Given the description of an element on the screen output the (x, y) to click on. 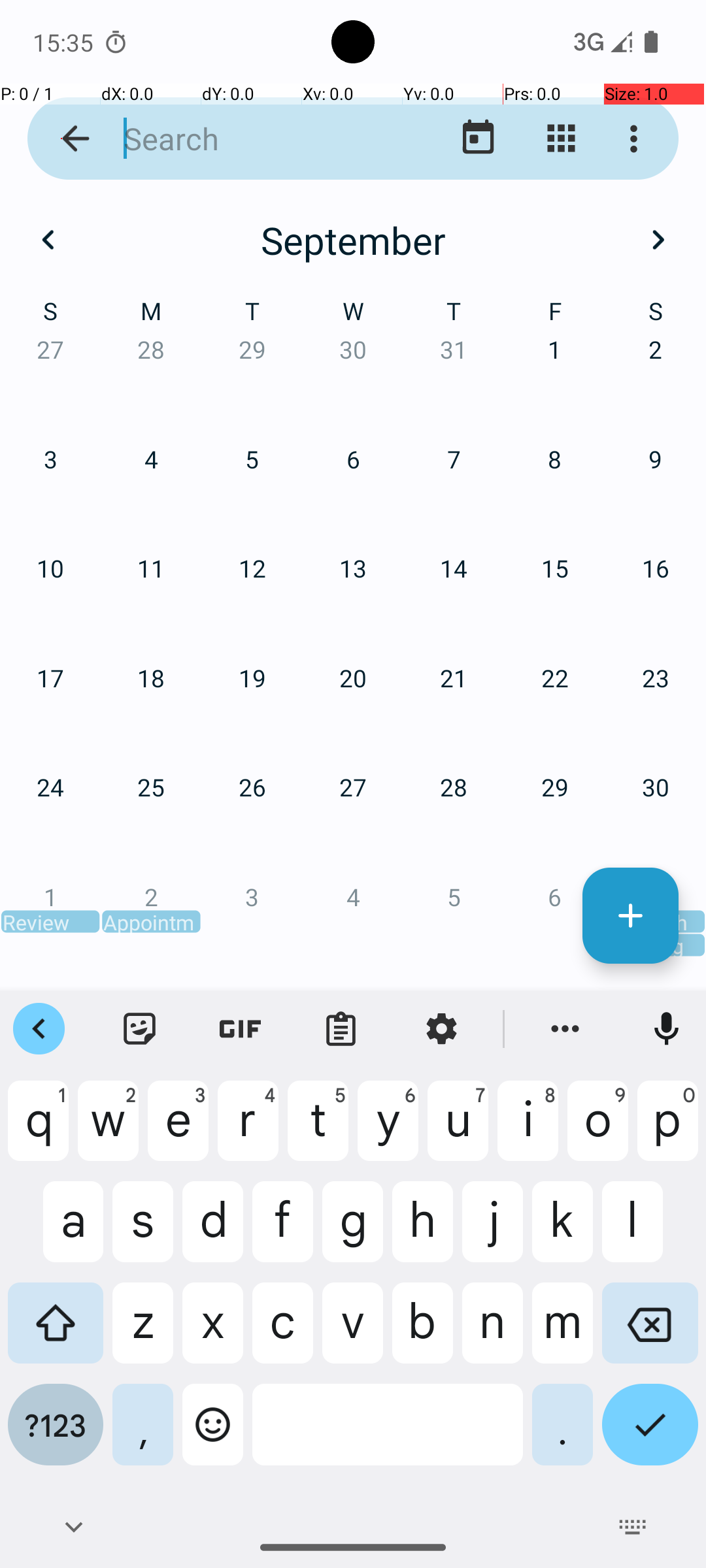
September Element type: android.widget.TextView (352, 239)
